Given the description of an element on the screen output the (x, y) to click on. 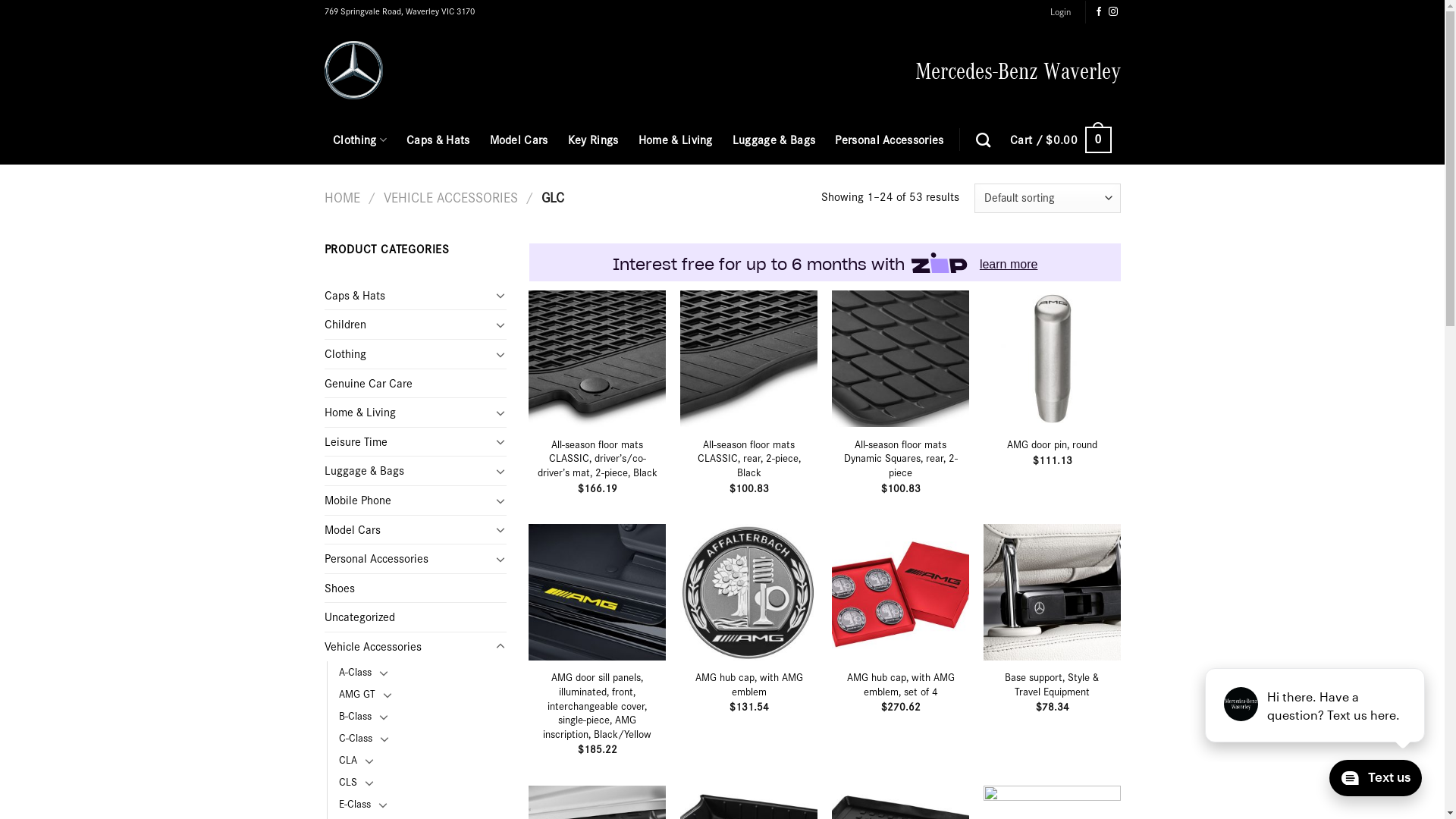
Children Element type: text (407, 324)
Vehicle Accessories Element type: text (407, 646)
CLS Element type: text (347, 782)
All-season floor mats CLASSIC, rear, 2-piece, Black Element type: text (748, 458)
Luggage & Bags Element type: text (773, 139)
Personal Accessories Element type: text (888, 139)
AMG hub cap, with AMG emblem, set of 4 Element type: text (899, 684)
All-season floor mats Dynamic Squares, rear, 2-piece Element type: text (899, 458)
Home & Living Element type: text (407, 412)
AMG hub cap, with AMG emblem Element type: text (748, 684)
AMG GT Element type: text (356, 694)
Home & Living Element type: text (675, 139)
CLA Element type: text (347, 760)
Luggage & Bags Element type: text (407, 470)
Key Rings Element type: text (592, 139)
Caps & Hats Element type: text (438, 139)
Base support, Style & Travel Equipment Element type: text (1051, 684)
E-Class Element type: text (354, 804)
Leisure Time Element type: text (407, 441)
C-Class Element type: text (354, 738)
Clothing Element type: text (359, 139)
podium webchat widget prompt Element type: hover (1315, 705)
Model Cars Element type: text (407, 529)
Mobile Phone Element type: text (407, 500)
VEHICLE ACCESSORIES Element type: text (450, 197)
Clothing Element type: text (407, 353)
Cart / $0.00
0 Element type: text (1060, 139)
B-Class Element type: text (354, 716)
A-Class Element type: text (354, 672)
Login Element type: text (1060, 11)
Shoes Element type: text (415, 588)
Genuine Car Care Element type: text (415, 383)
Caps & Hats Element type: text (407, 295)
HOME Element type: text (342, 197)
AMG door pin, round Element type: text (1052, 444)
Model Cars Element type: text (518, 139)
Uncategorized Element type: text (415, 616)
Personal Accessories Element type: text (407, 558)
